Given the description of an element on the screen output the (x, y) to click on. 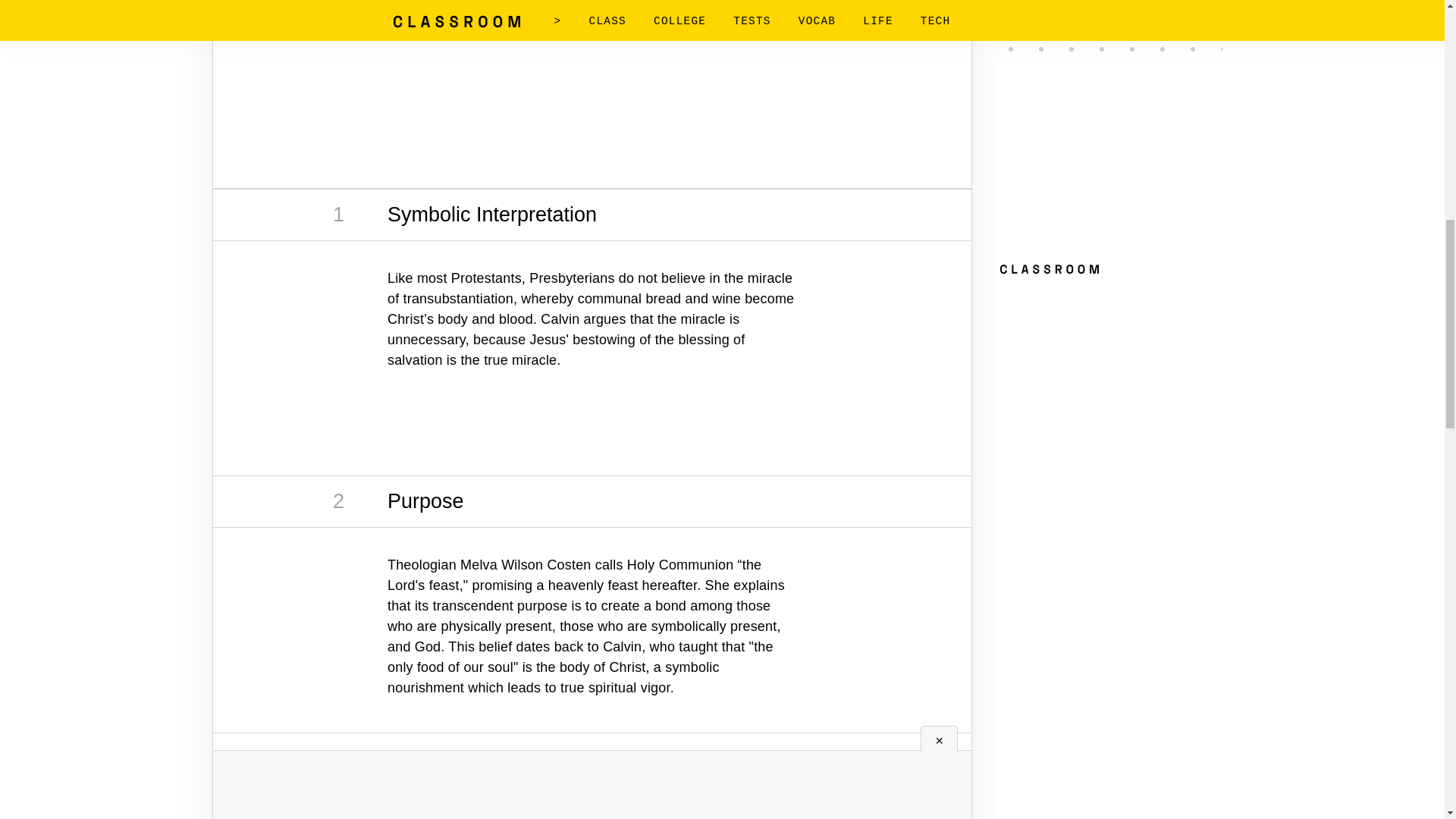
Advertisement (591, 83)
Advertisement (591, 801)
